Given the description of an element on the screen output the (x, y) to click on. 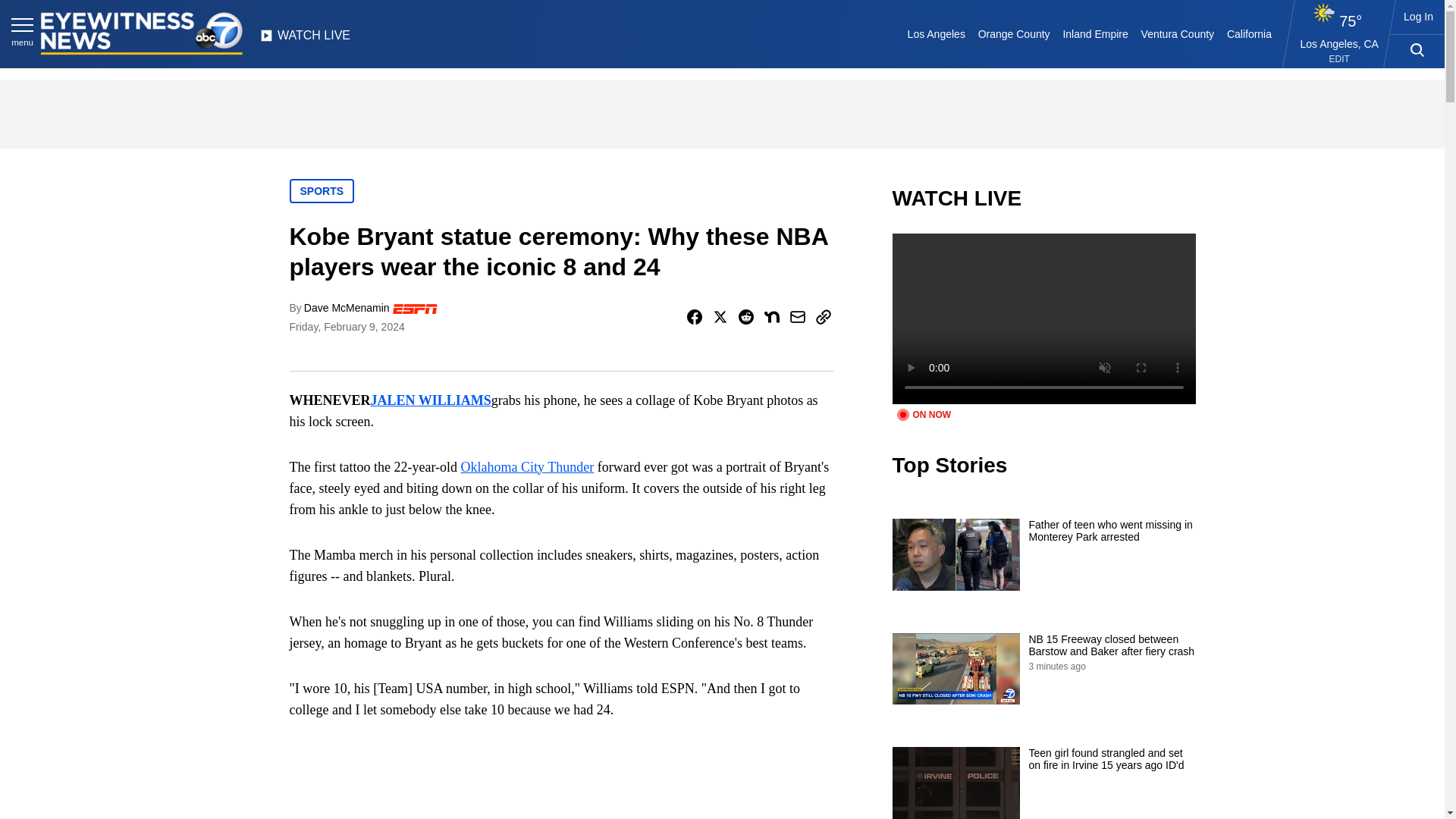
Los Angeles, CA (1339, 43)
Orange County (1014, 33)
video.title (1043, 318)
WATCH LIVE (305, 39)
EDIT (1339, 59)
California (1249, 33)
Los Angeles (936, 33)
Inland Empire (1095, 33)
Ventura County (1177, 33)
